Given the description of an element on the screen output the (x, y) to click on. 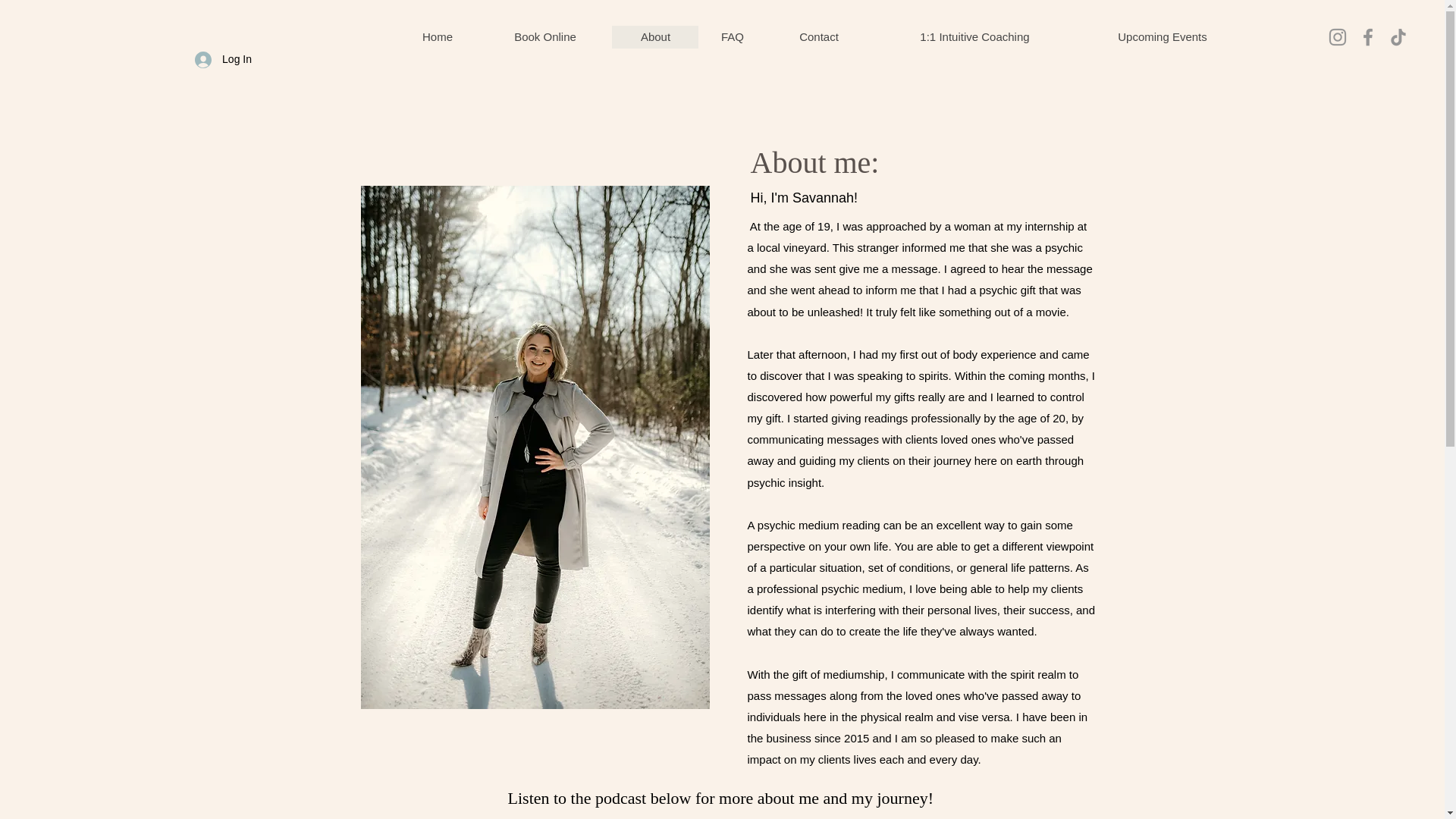
FAQ (731, 36)
Book Online (544, 36)
Log In (223, 59)
Upcoming Events (1161, 36)
About (654, 36)
Home (437, 36)
Contact (817, 36)
1:1 Intuitive Coaching (973, 36)
